Given the description of an element on the screen output the (x, y) to click on. 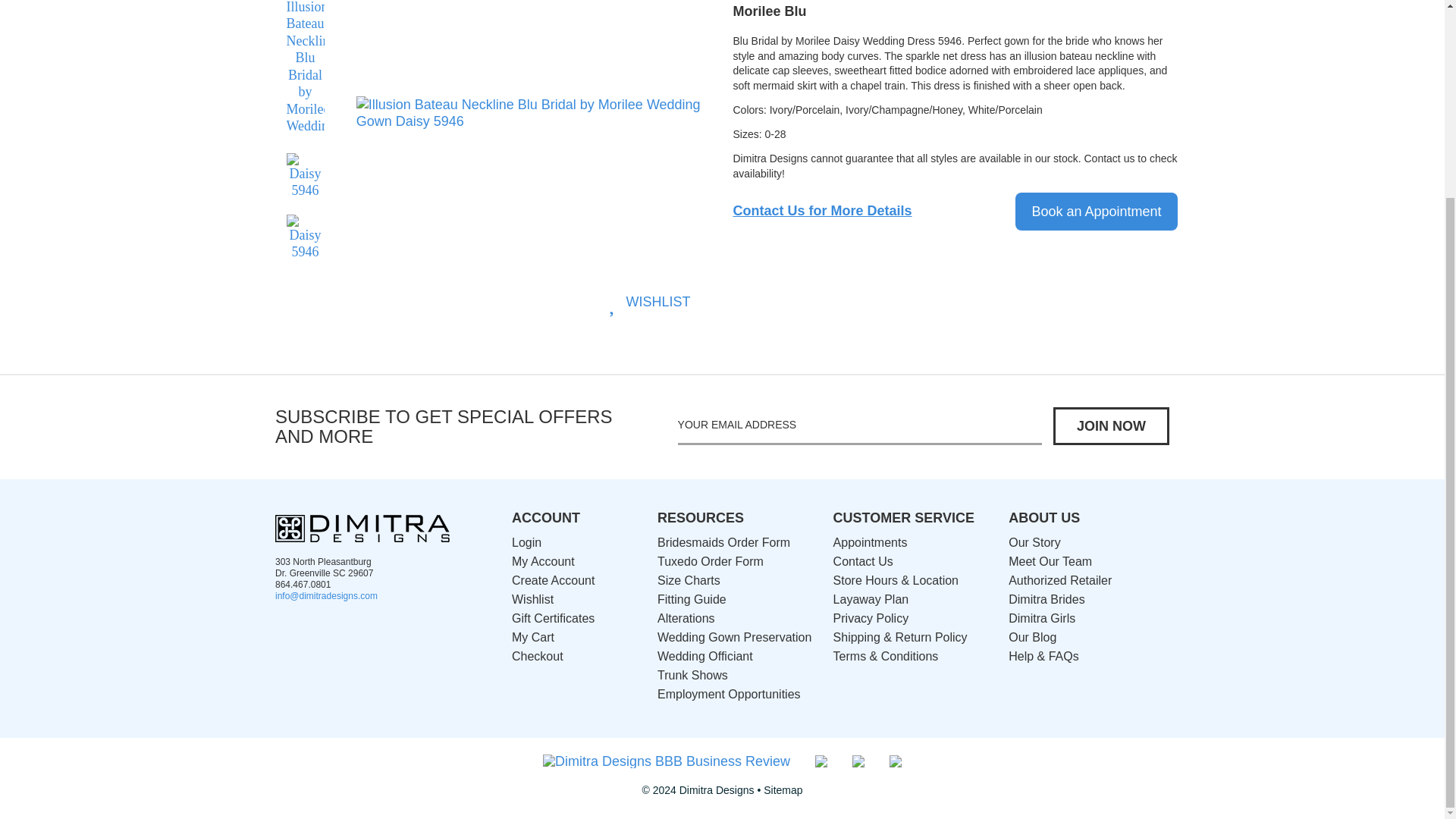
Instagram (381, 299)
Instagram (316, 628)
Facebook (286, 628)
Join NOw (1110, 426)
Pinterest (688, 4)
Facebook (345, 299)
DIMITRA DESIGNS (362, 528)
TikTok (417, 299)
